Given the description of an element on the screen output the (x, y) to click on. 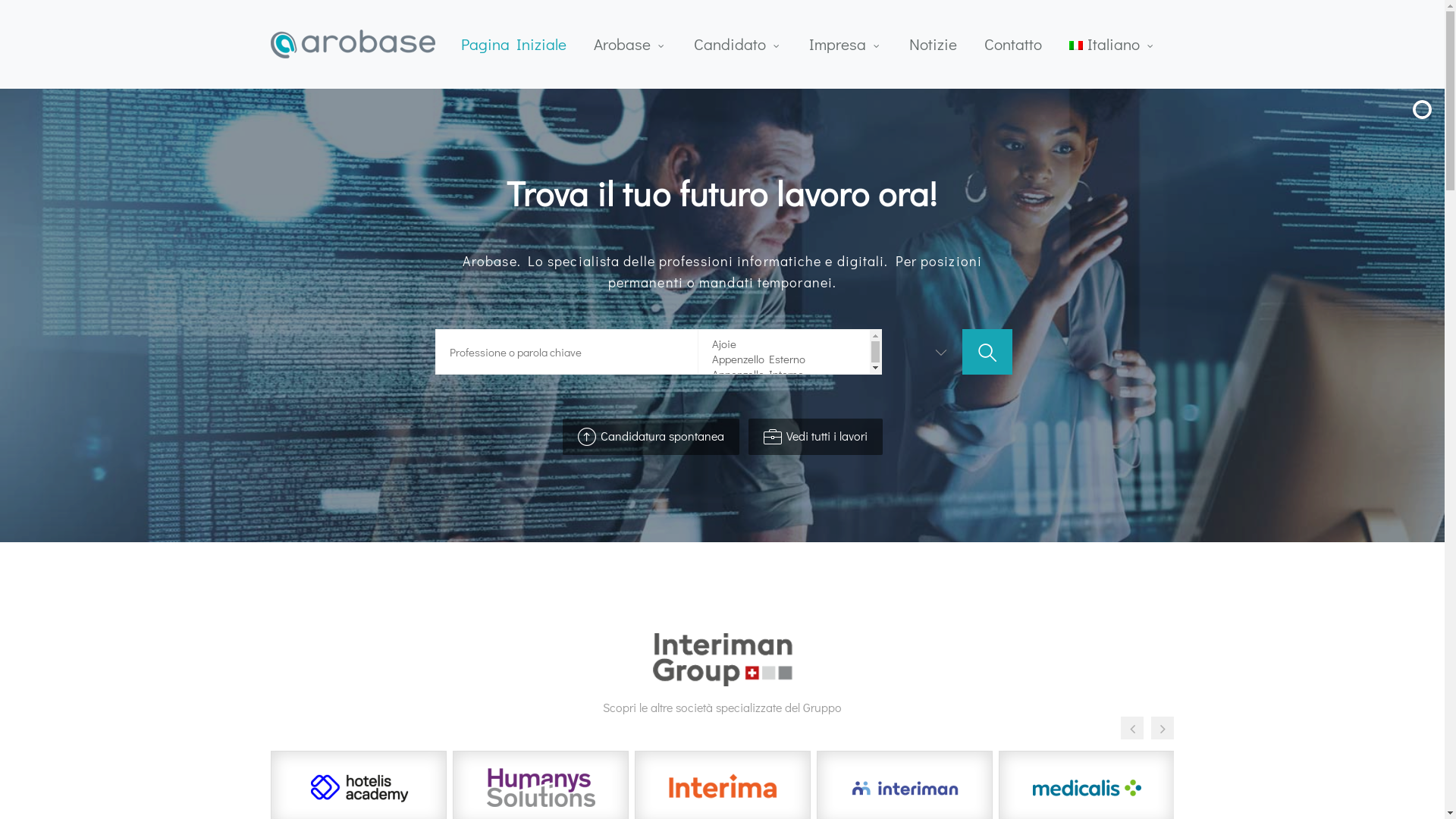
Contatto Element type: text (1013, 44)
Arobase Element type: text (629, 44)
Pagina Iniziale Element type: text (513, 44)
Vedi tutti i lavori Element type: text (814, 436)
Search Element type: text (987, 370)
Notizie Element type: text (933, 44)
Candidato Element type: text (737, 44)
Impresa Element type: text (845, 44)
Italiano Element type: text (1112, 44)
Candidatura spontanea Element type: text (650, 436)
